Given the description of an element on the screen output the (x, y) to click on. 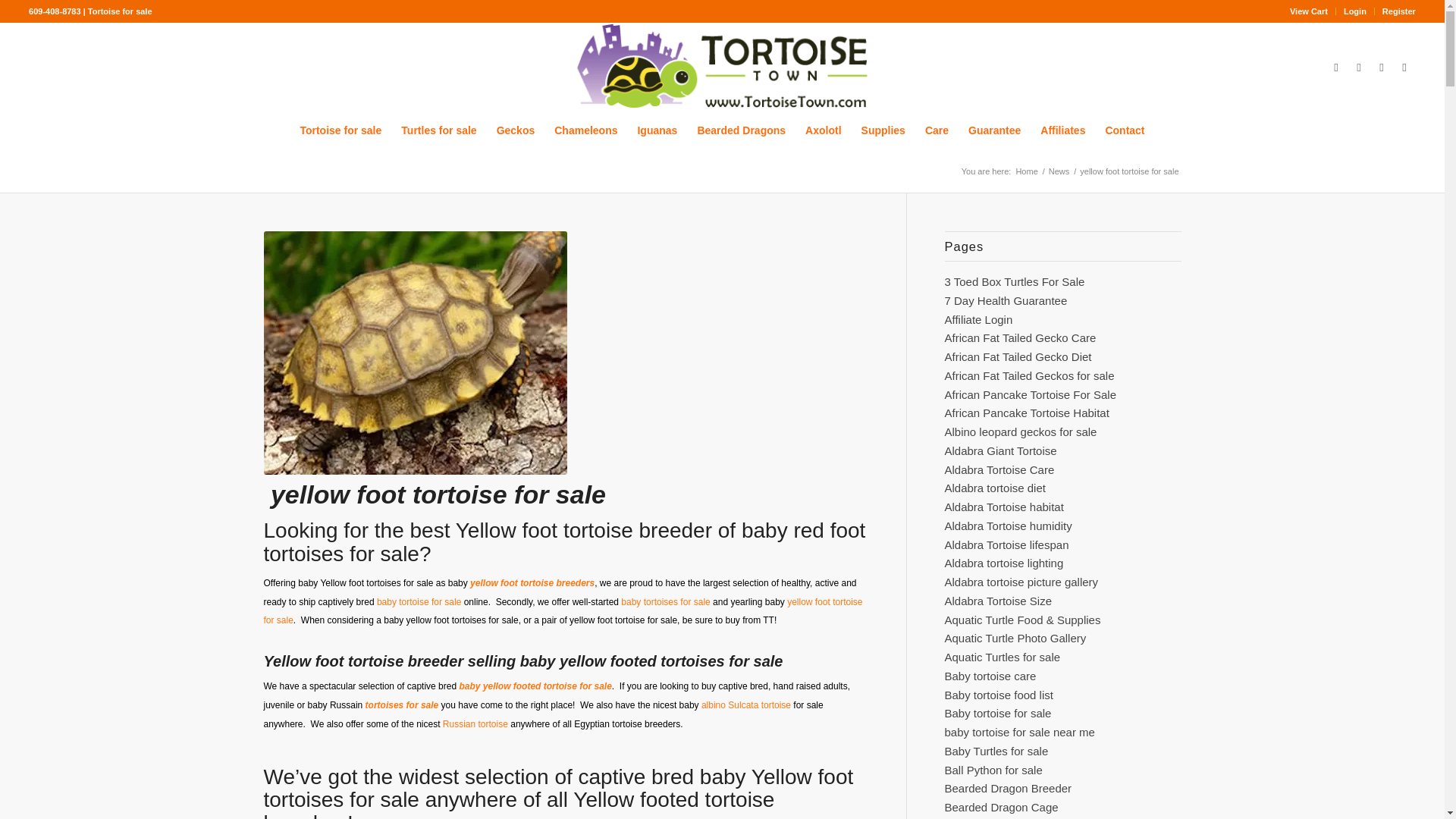
News (1058, 171)
View Cart (1308, 11)
Login (1355, 11)
Tortoise for sale (340, 130)
Register (1398, 11)
yellow foot tortoise (415, 352)
Youtube (1381, 67)
Pinterest (1404, 67)
Instagram (1359, 67)
tortoise for sale 1 (721, 66)
Facebook (1336, 67)
